Given the description of an element on the screen output the (x, y) to click on. 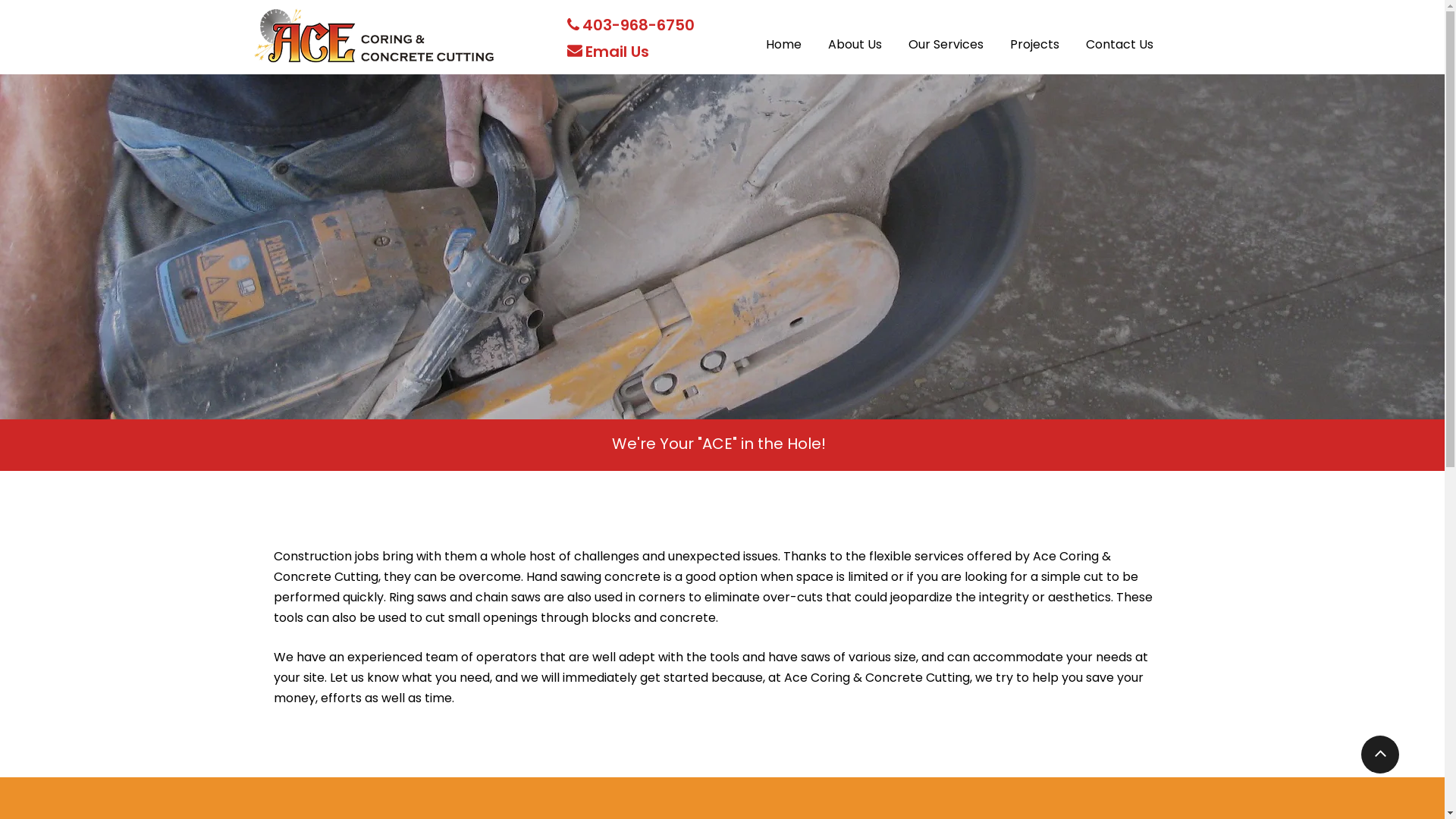
Our Services Element type: text (945, 34)
Projects Element type: text (1034, 34)
Contact Us Element type: text (1119, 34)
Email Us Element type: text (617, 54)
Home Element type: text (783, 34)
403-968-6750 Element type: text (638, 27)
About Us Element type: text (854, 34)
